Given the description of an element on the screen output the (x, y) to click on. 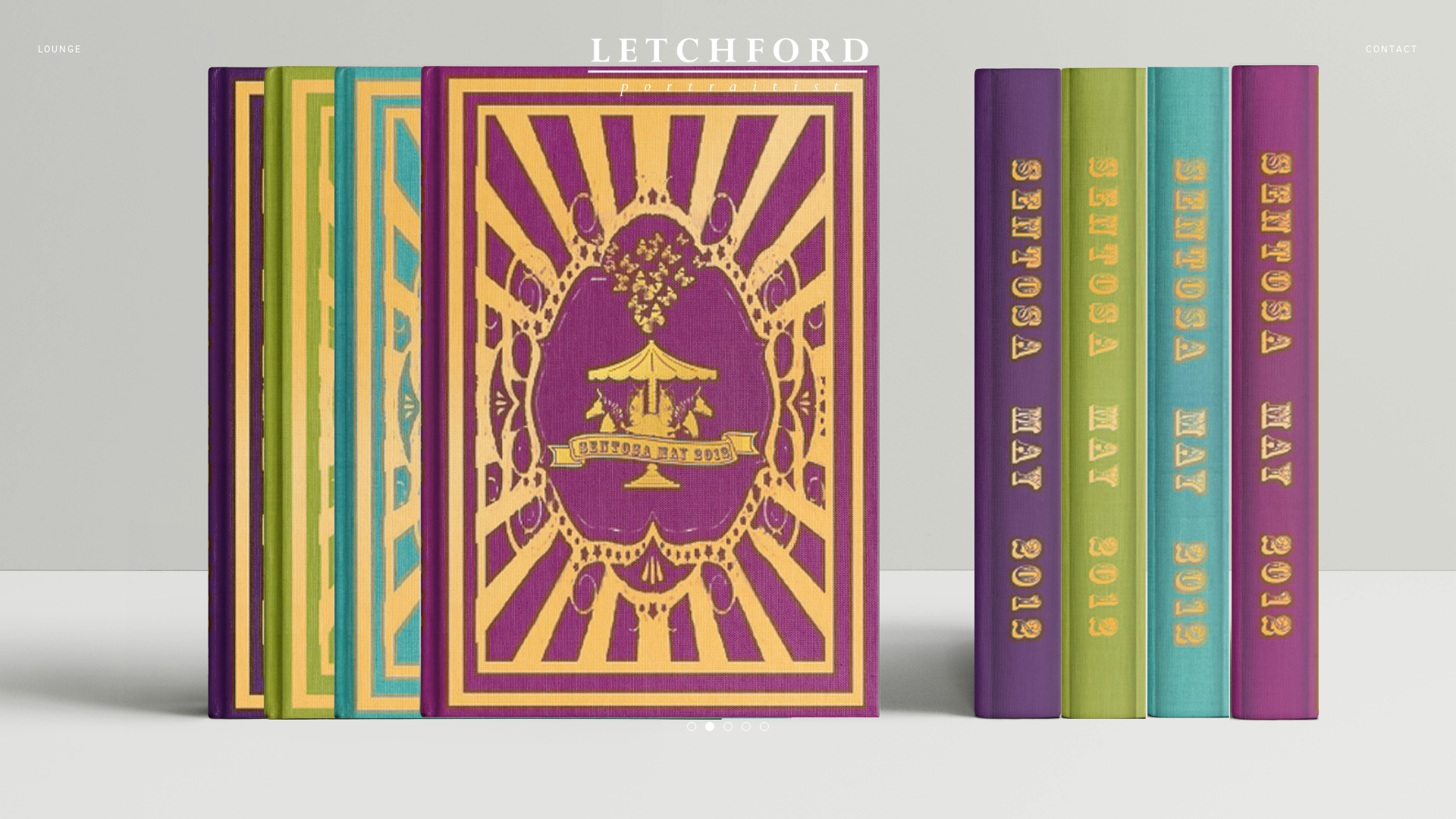
CONTACT Element type: text (1391, 48)
5 Element type: text (763, 726)
LOUNGE Element type: text (59, 48)
4 Element type: text (745, 726)
1 Element type: text (691, 726)
3 Element type: text (727, 726)
2 Element type: text (709, 726)
